Given the description of an element on the screen output the (x, y) to click on. 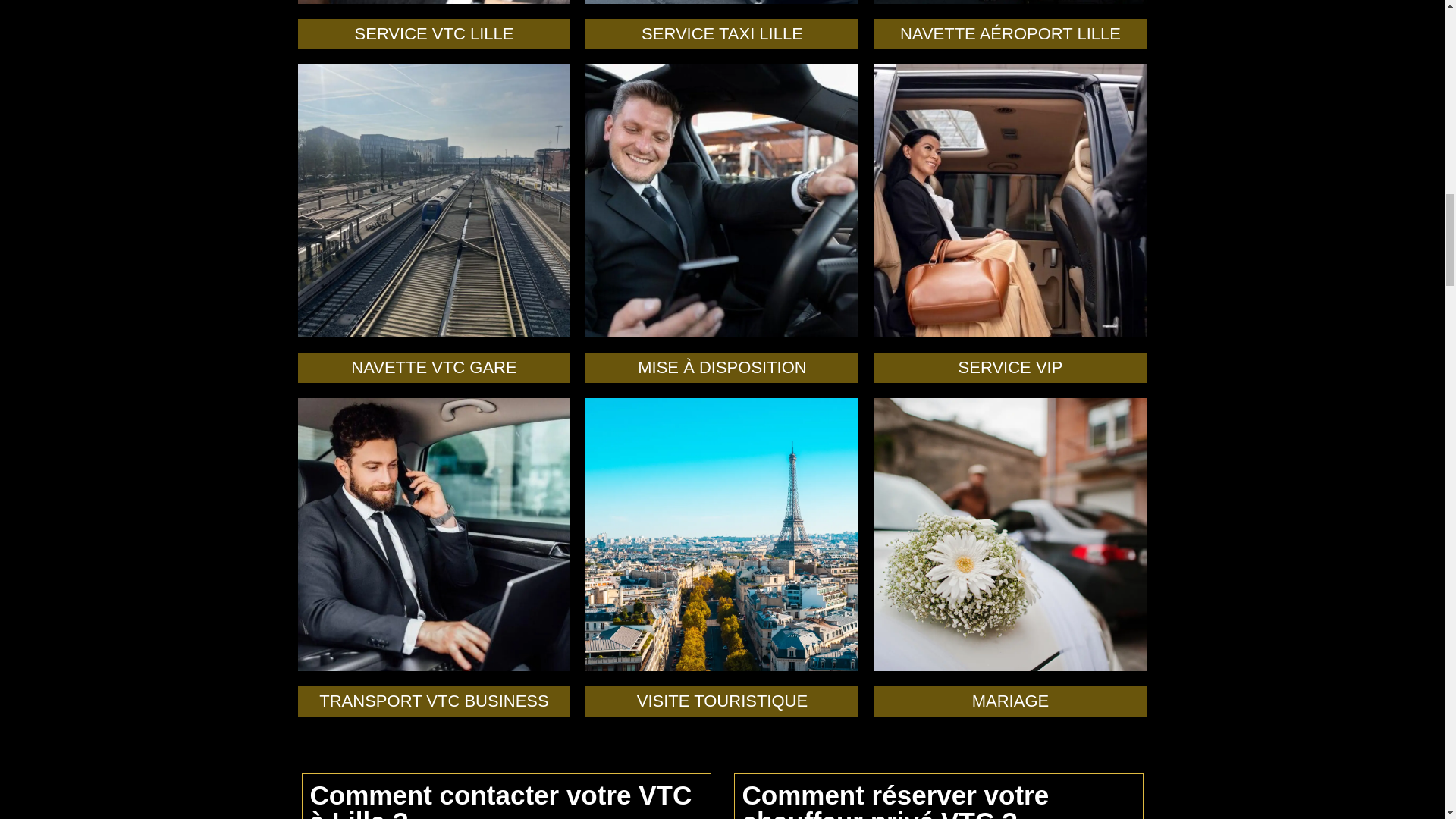
SERVICE VIP (1010, 366)
NAVETTE VTC GARE (433, 366)
SERVICE TAXI LILLE (722, 33)
SERVICE VTC LILLE (434, 33)
